Given the description of an element on the screen output the (x, y) to click on. 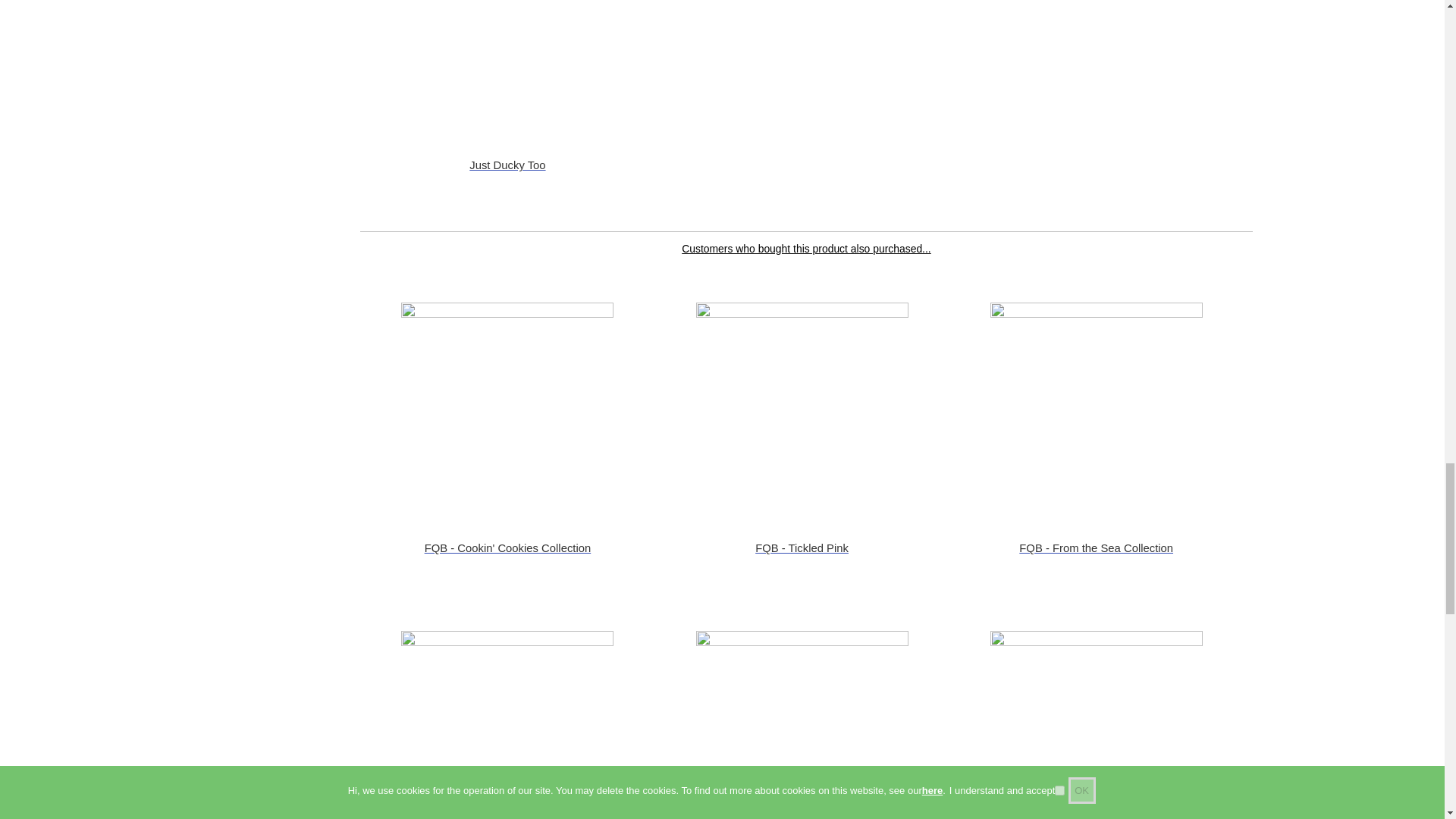
Just Ducky Too (506, 65)
FQB - Cookin' Cookies Collection (506, 408)
FQB - Tickled Pink (801, 408)
